Given the description of an element on the screen output the (x, y) to click on. 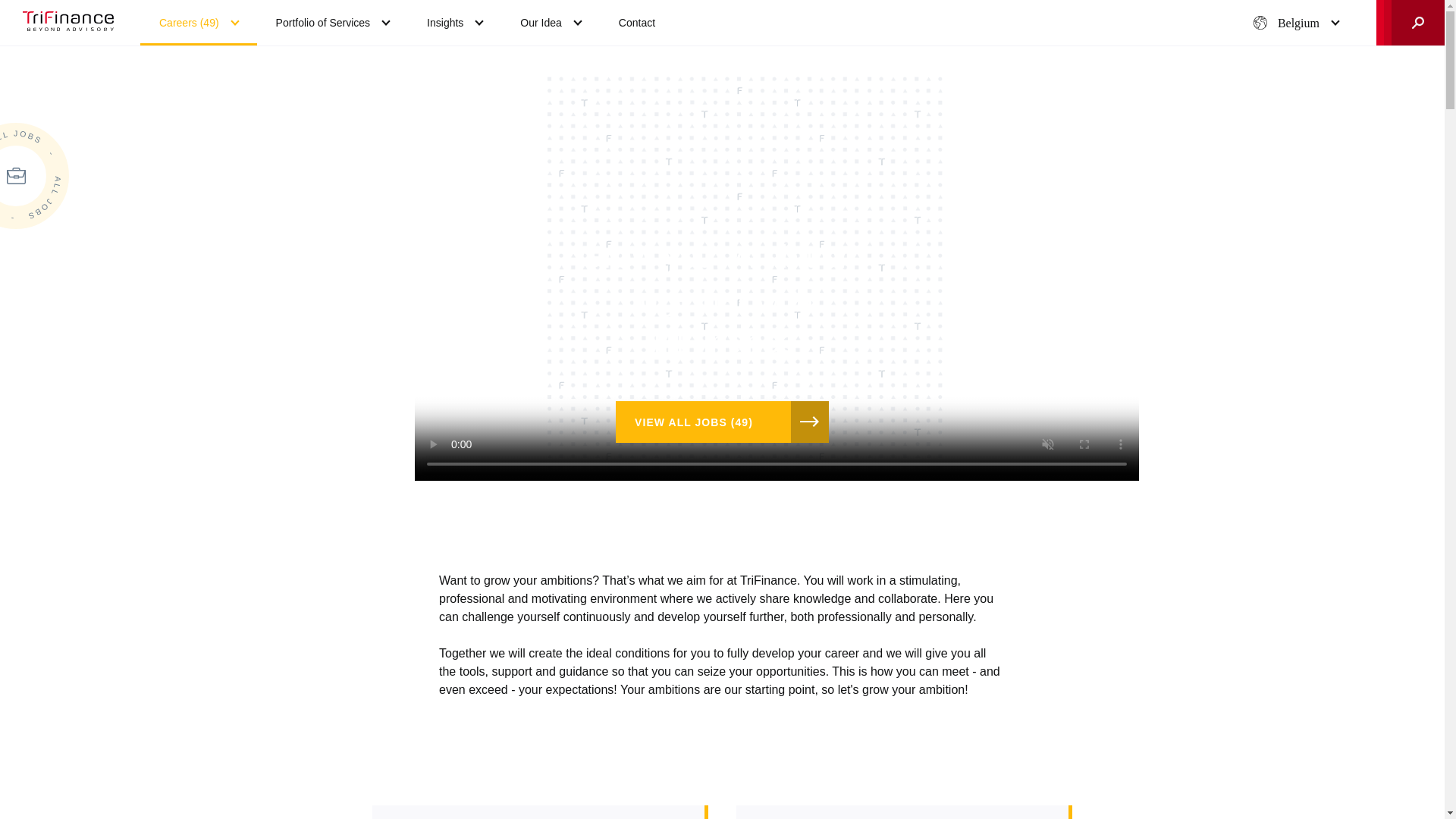
Portfolio of Services (333, 22)
